Given the description of an element on the screen output the (x, y) to click on. 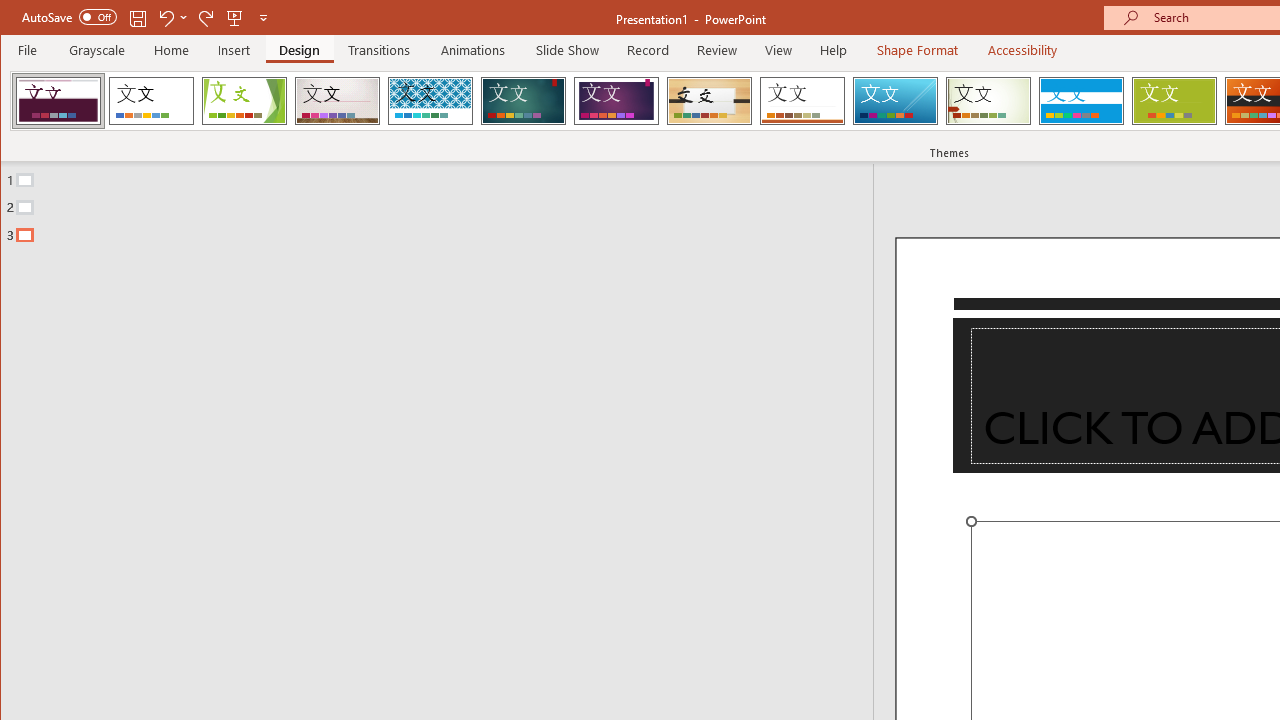
Basis (1174, 100)
Organic (709, 100)
Banded (1081, 100)
